Given the description of an element on the screen output the (x, y) to click on. 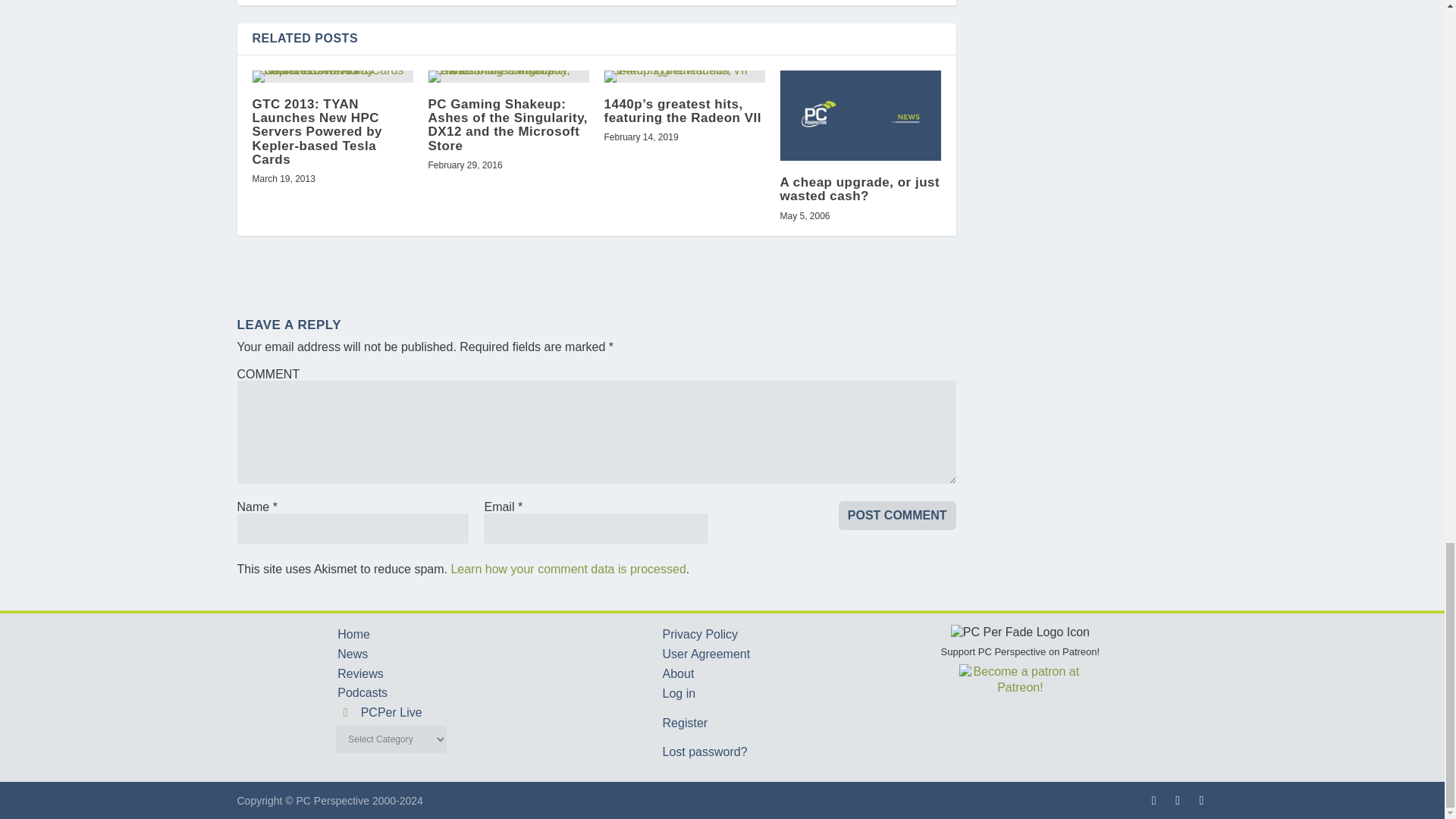
Support PC Perspective on Patreon! (1020, 659)
Post Comment (897, 515)
